Given the description of an element on the screen output the (x, y) to click on. 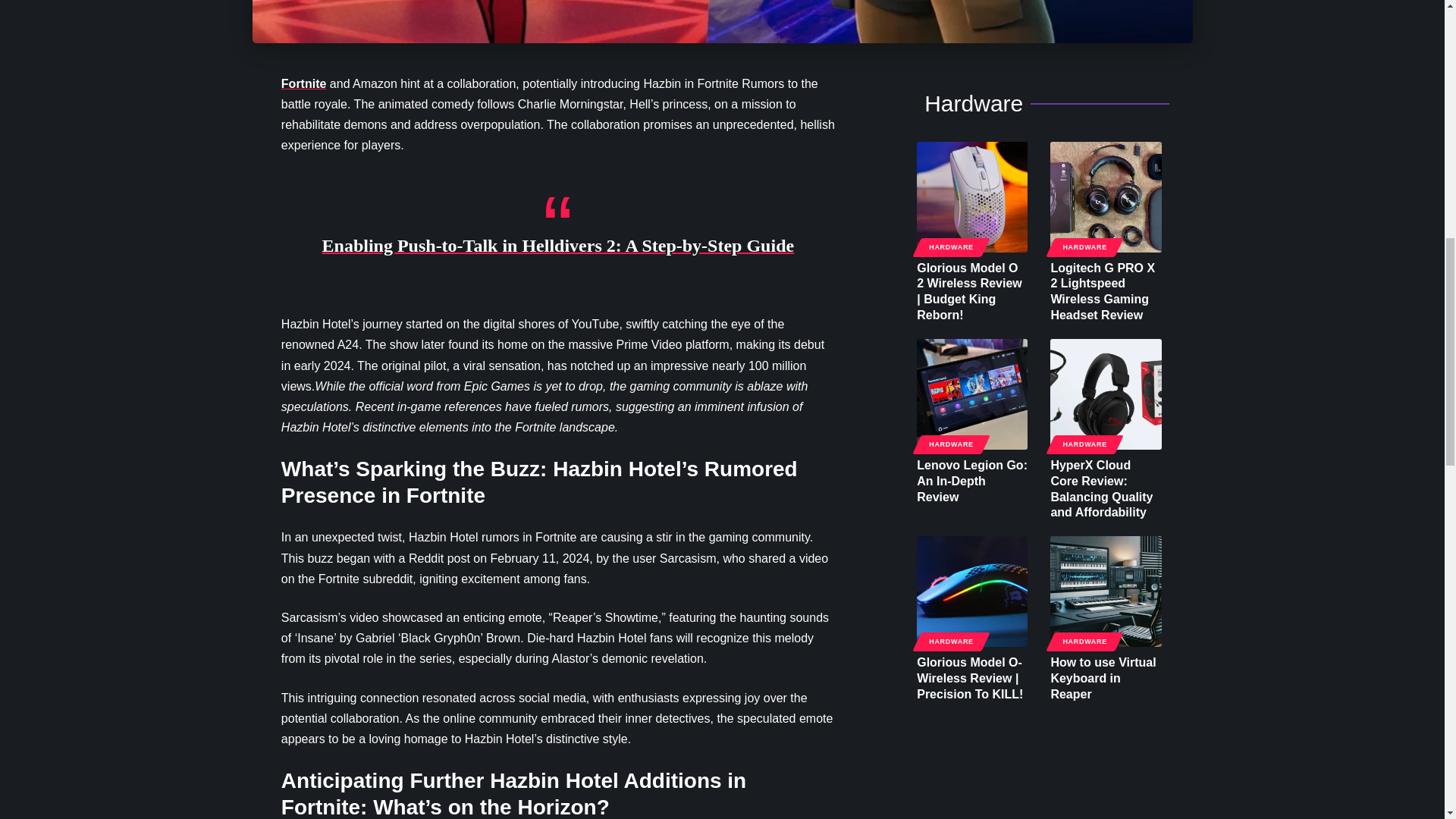
Enabling Push-to-Talk in Helldivers 2: A Step-by-Step Guide (557, 245)
How to use Virtual Keyboard in Reaper (1104, 591)
Fortnite (303, 83)
Lenovo Legion Go: An In-Depth Review (972, 394)
Logitech G PRO X 2 Lightspeed Wireless Gaming Headset Review (1104, 195)
